Given the description of an element on the screen output the (x, y) to click on. 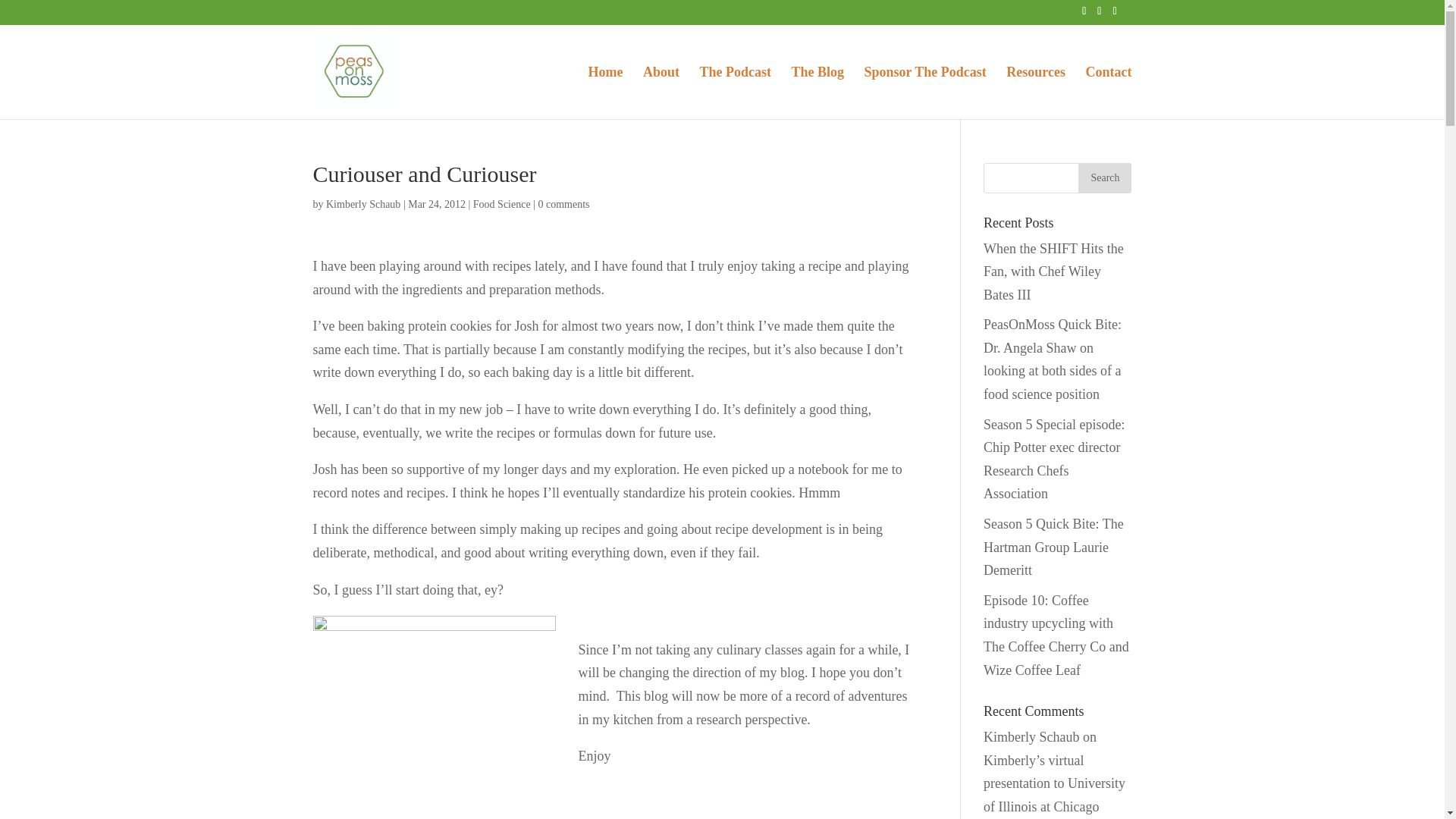
Search (1104, 177)
Kimberly Schaub (363, 204)
Kimberly Schaub (1031, 736)
Search (1104, 177)
The Podcast (734, 92)
Food Science (502, 204)
Sponsor The Podcast (924, 92)
